Given the description of an element on the screen output the (x, y) to click on. 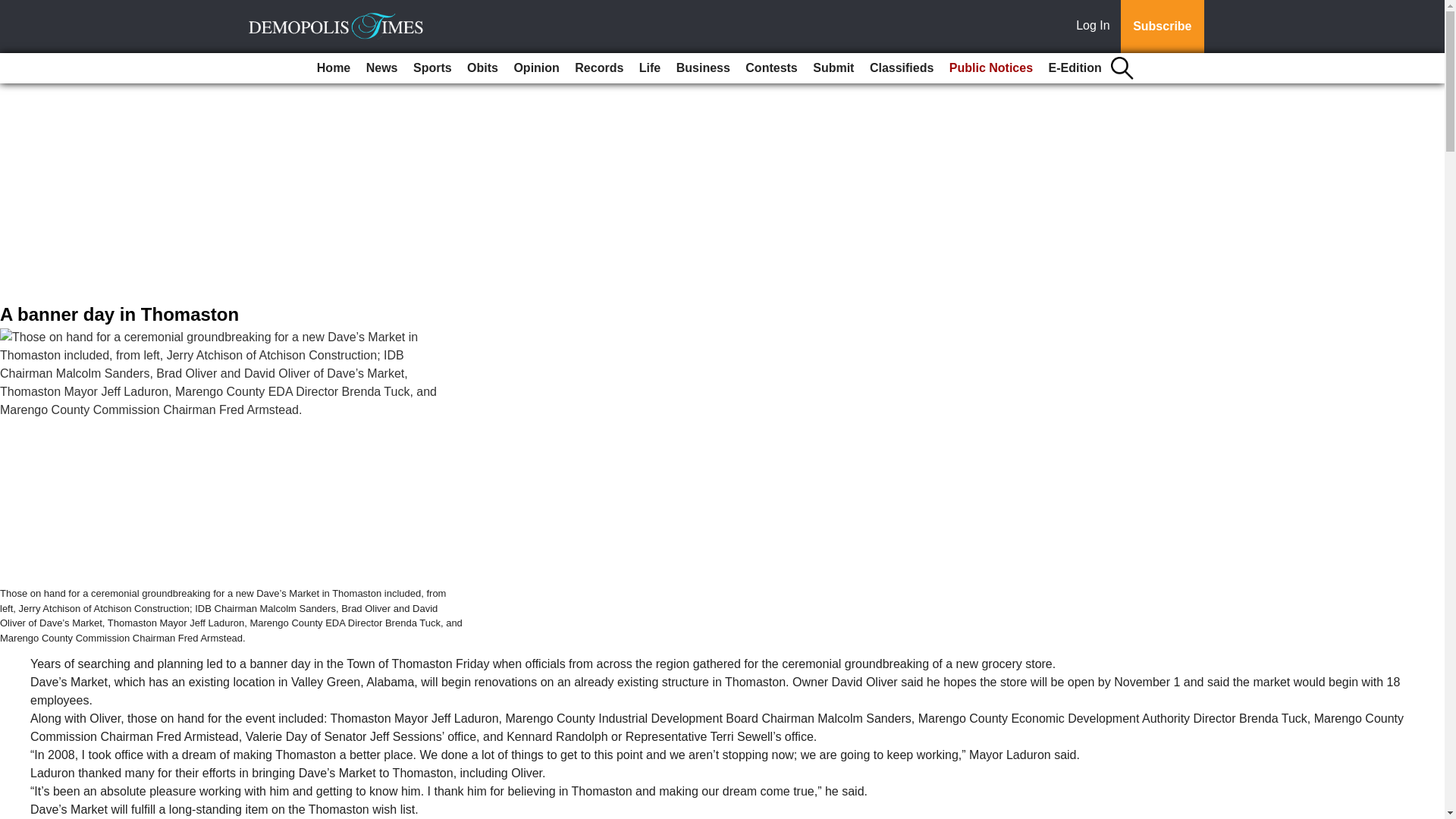
Business (702, 68)
Obits (482, 68)
Sports (432, 68)
Submit (833, 68)
Log In (1095, 26)
Home (333, 68)
E-Edition (1075, 68)
Life (649, 68)
Contests (771, 68)
Classifieds (901, 68)
Opinion (535, 68)
Subscribe (1162, 26)
Go (13, 9)
News (381, 68)
Records (598, 68)
